Given the description of an element on the screen output the (x, y) to click on. 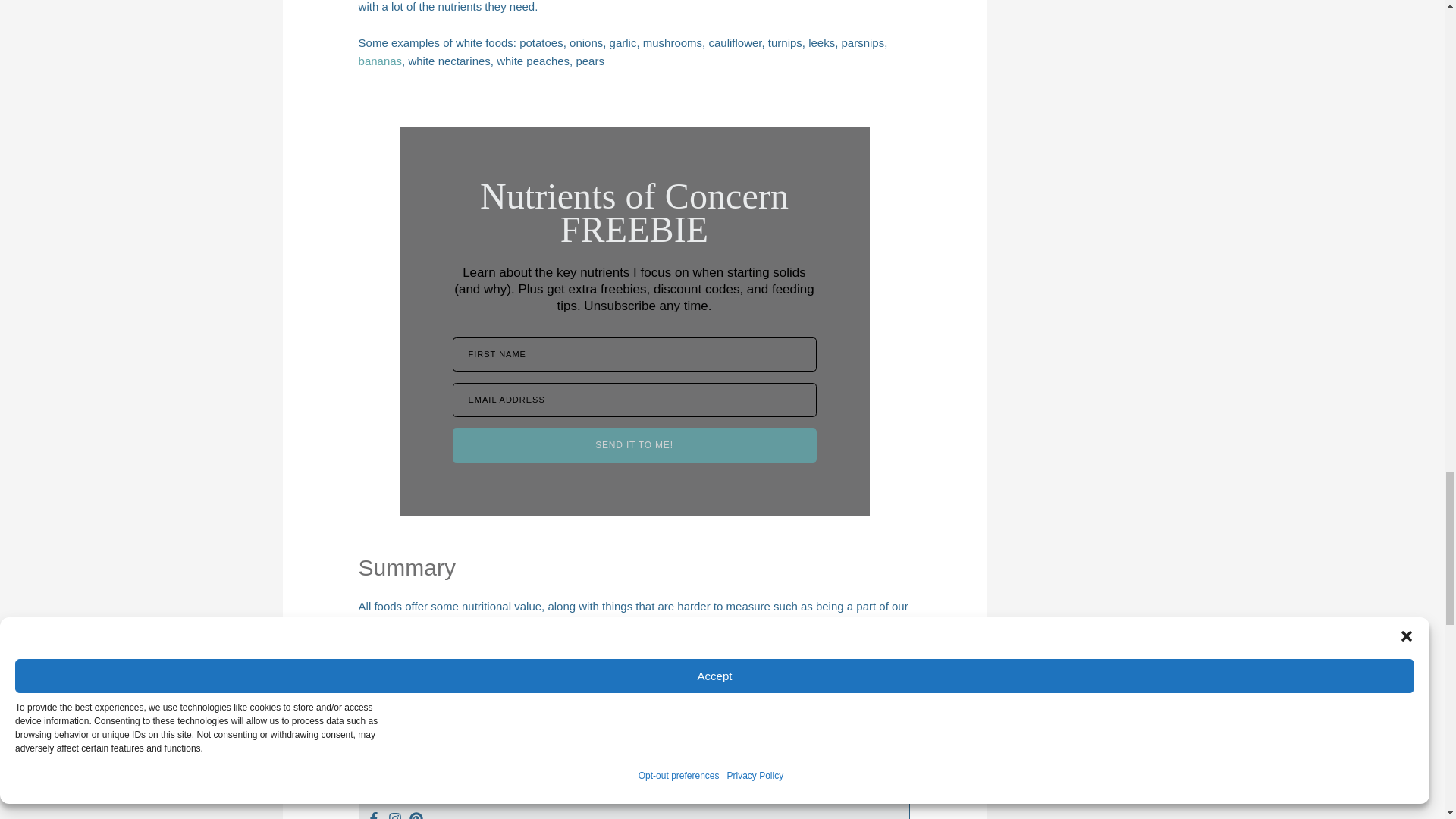
Pinterest (416, 815)
Instagram (394, 815)
Facebook (373, 815)
